Given the description of an element on the screen output the (x, y) to click on. 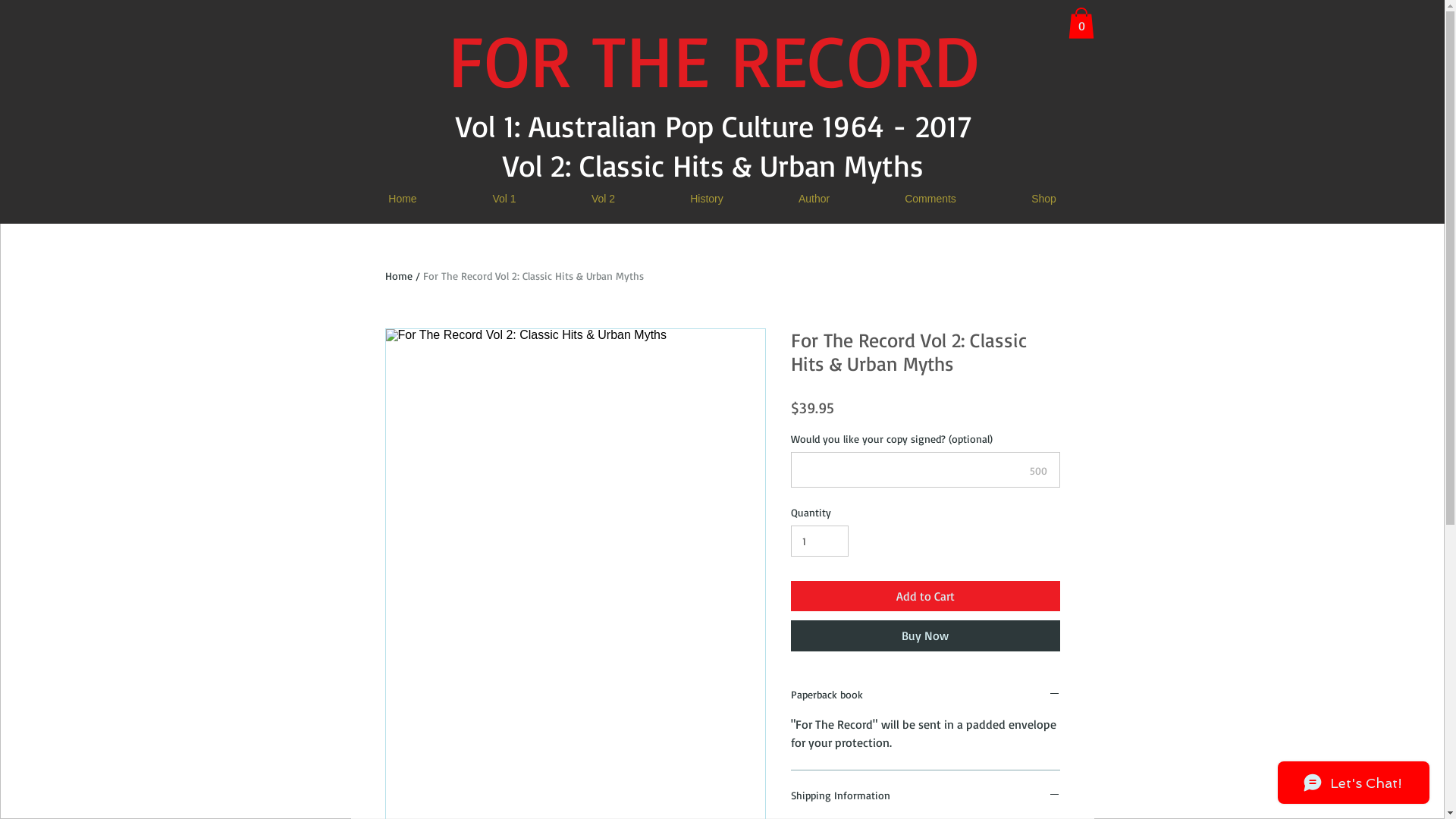
Comments Element type: text (930, 199)
Vol 2 Element type: text (602, 199)
Paperback book Element type: text (924, 694)
Add to Cart Element type: text (924, 595)
FOR THE RECORD Element type: text (713, 58)
Vol 1 Element type: text (504, 199)
0 Element type: text (1080, 22)
Home Element type: text (402, 199)
Buy Now Element type: text (924, 635)
For The Record Vol 2: Classic Hits & Urban Myths Element type: text (533, 275)
Author Element type: text (814, 199)
Shipping Information Element type: text (924, 795)
History Element type: text (706, 199)
Home Element type: text (398, 275)
Shop Element type: text (1043, 199)
